Given the description of an element on the screen output the (x, y) to click on. 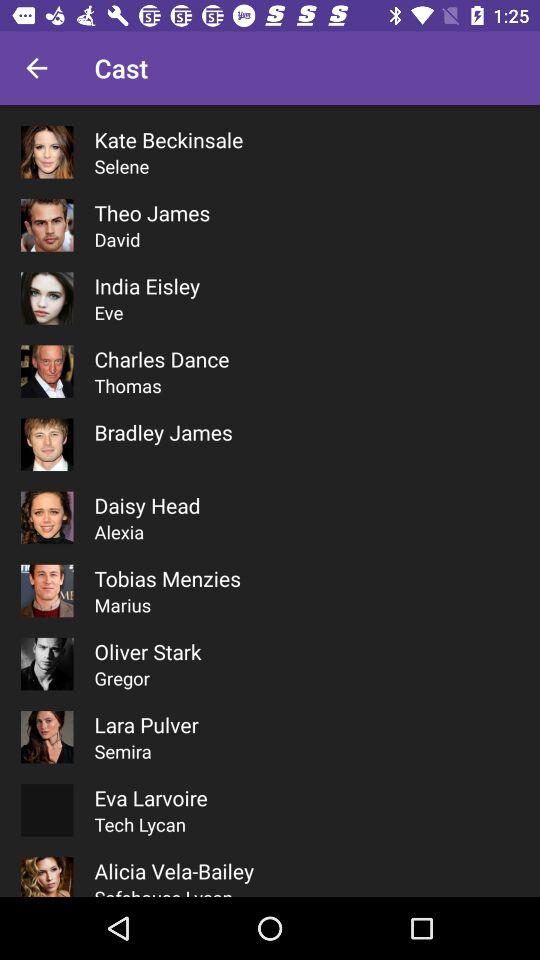
click bradley james item (163, 432)
